Given the description of an element on the screen output the (x, y) to click on. 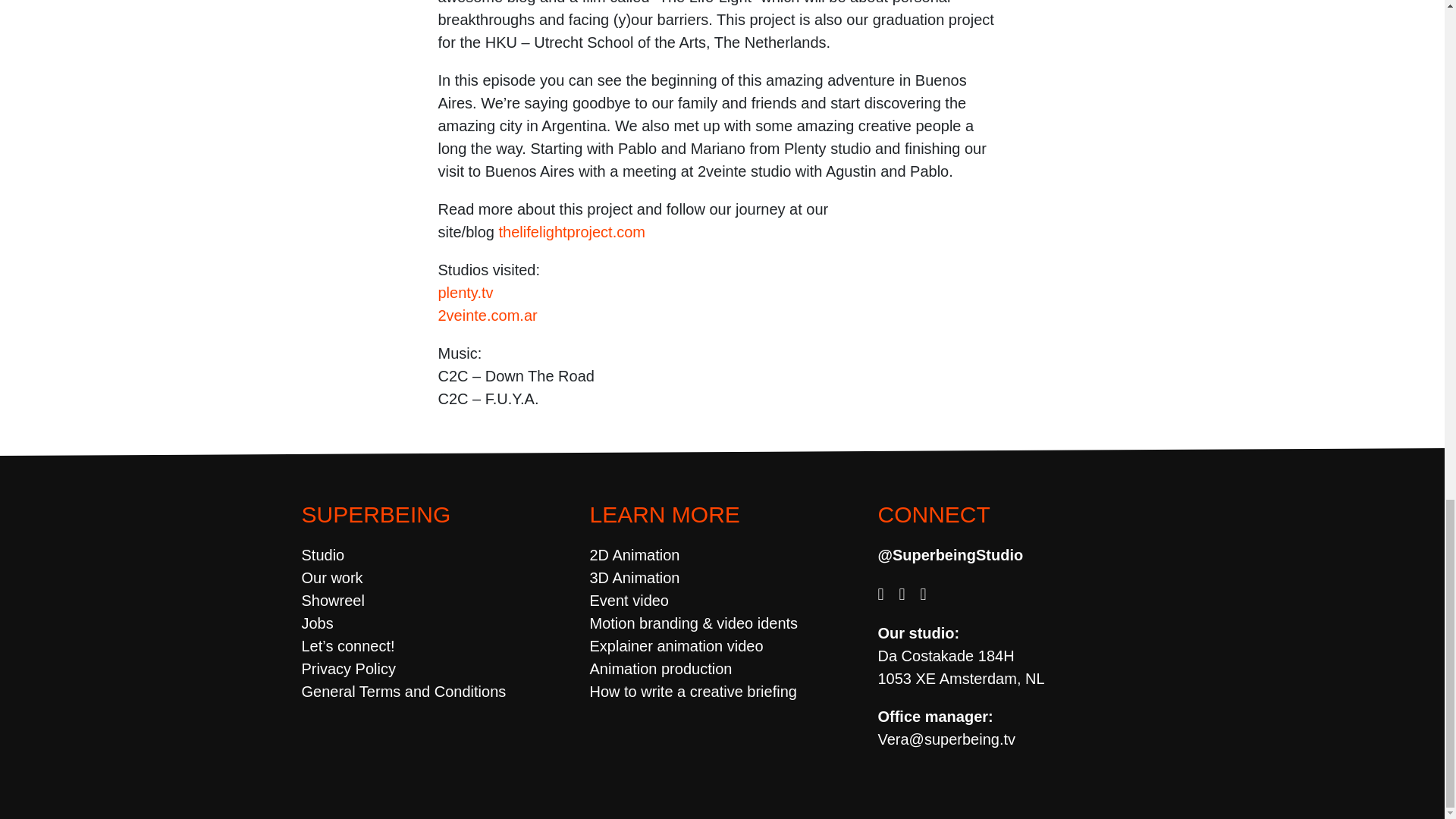
How to write a creative briefing (692, 691)
Jobs (317, 623)
Explainer animation video (675, 646)
Privacy Policy (348, 668)
Showreel (333, 600)
2veinte.com.ar (487, 315)
Our work (331, 577)
thelifelightproject.com (572, 231)
General Terms and Conditions (403, 691)
Animation production (660, 668)
plenty.tv (465, 292)
Event video (628, 600)
Studio (323, 555)
2D Animation (634, 555)
3D Animation (634, 577)
